Given the description of an element on the screen output the (x, y) to click on. 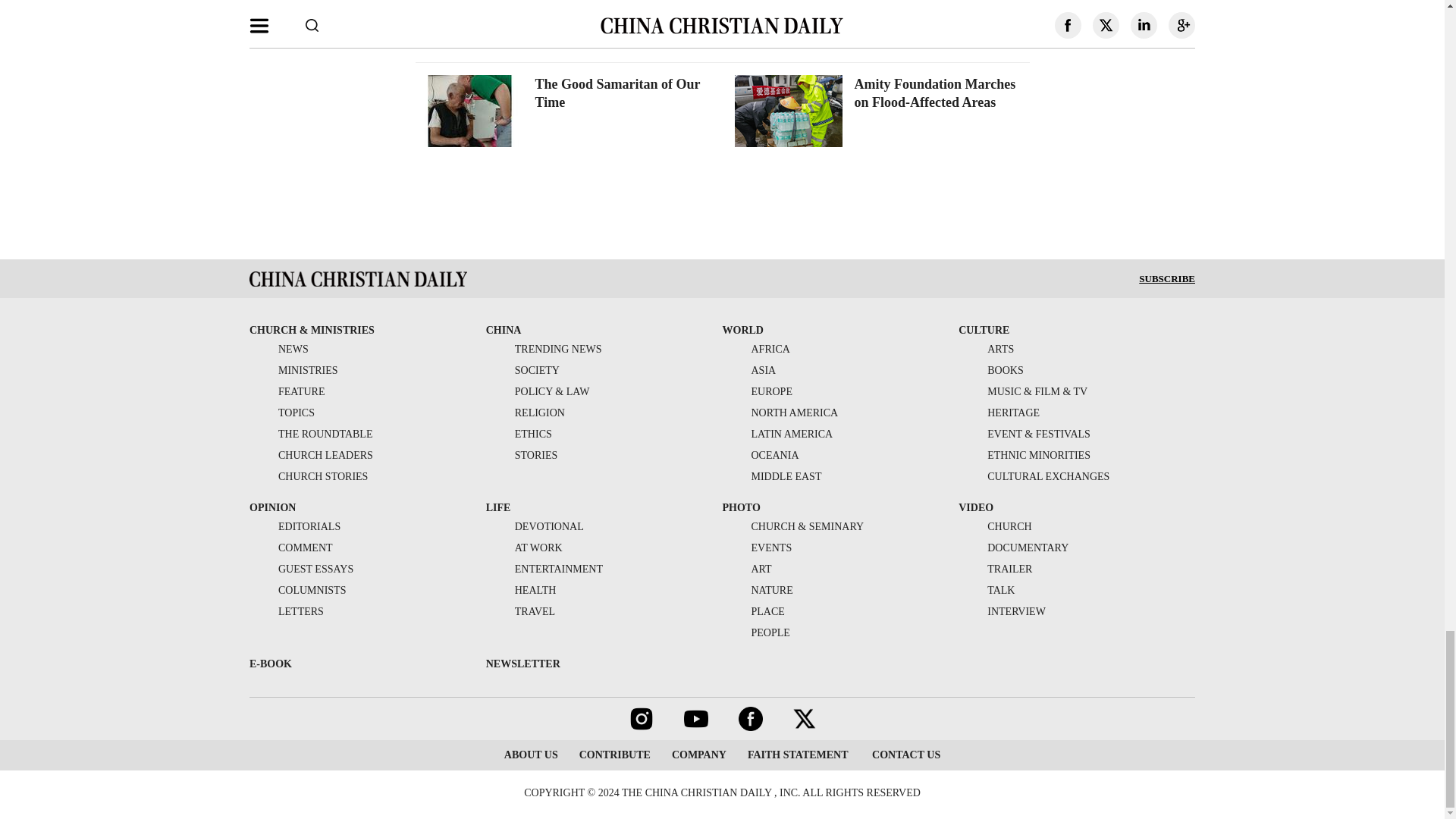
CHURCH STORIES (308, 476)
MINISTRIES (292, 369)
TOPICS (281, 412)
Amity Foundation Marches on Flood-Affected Areas (933, 92)
CHURCH LEADERS (310, 455)
FEATURE (286, 391)
NEWS (278, 348)
The Good Samaritan of Our Time (617, 92)
THE ROUNDTABLE (310, 433)
